Given the description of an element on the screen output the (x, y) to click on. 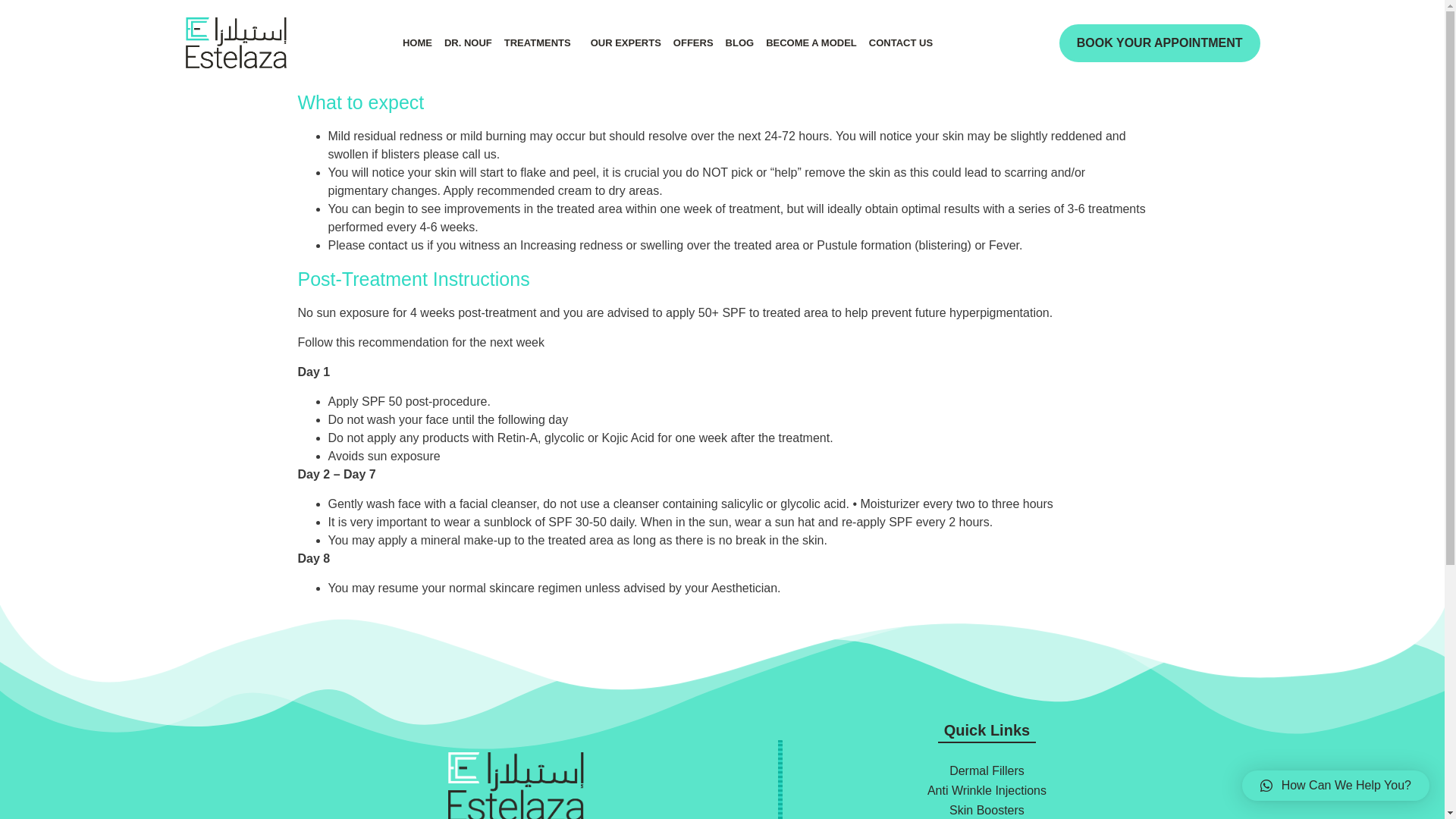
OUR EXPERTS (625, 42)
BECOME A MODEL (811, 42)
BOOK YOUR APPOINTMENT (1159, 43)
CONTACT US (901, 42)
DR. NOUF (467, 42)
BLOG (739, 42)
HOME (417, 42)
TREATMENTS (541, 42)
OFFERS (692, 42)
